Given the description of an element on the screen output the (x, y) to click on. 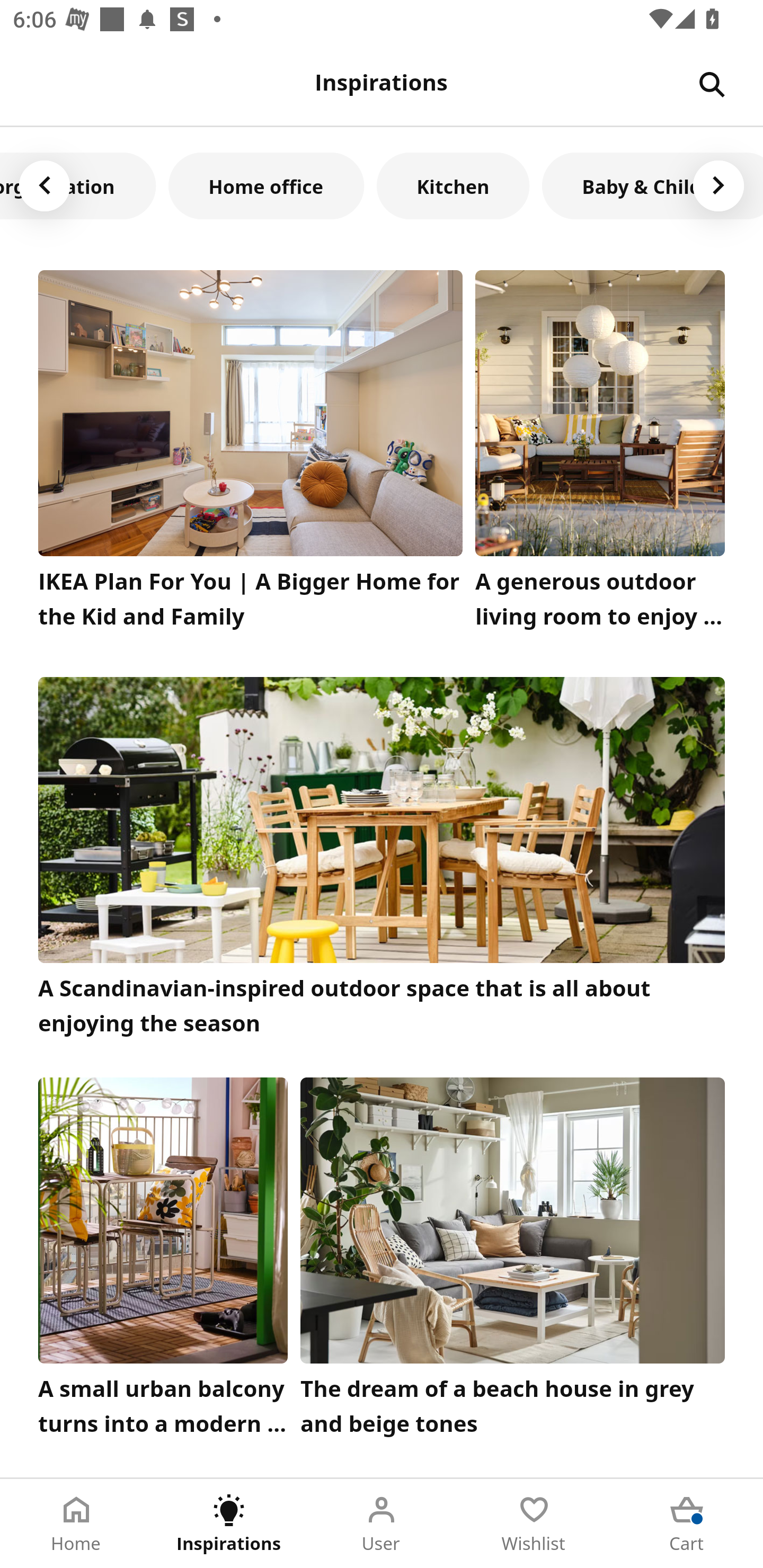
Home office (265, 185)
Kitchen (452, 185)
Baby & Children  (652, 185)
The dream of a beach house in grey and beige tones (512, 1261)
Home
Tab 1 of 5 (76, 1522)
Inspirations
Tab 2 of 5 (228, 1522)
User
Tab 3 of 5 (381, 1522)
Wishlist
Tab 4 of 5 (533, 1522)
Cart
Tab 5 of 5 (686, 1522)
